Given the description of an element on the screen output the (x, y) to click on. 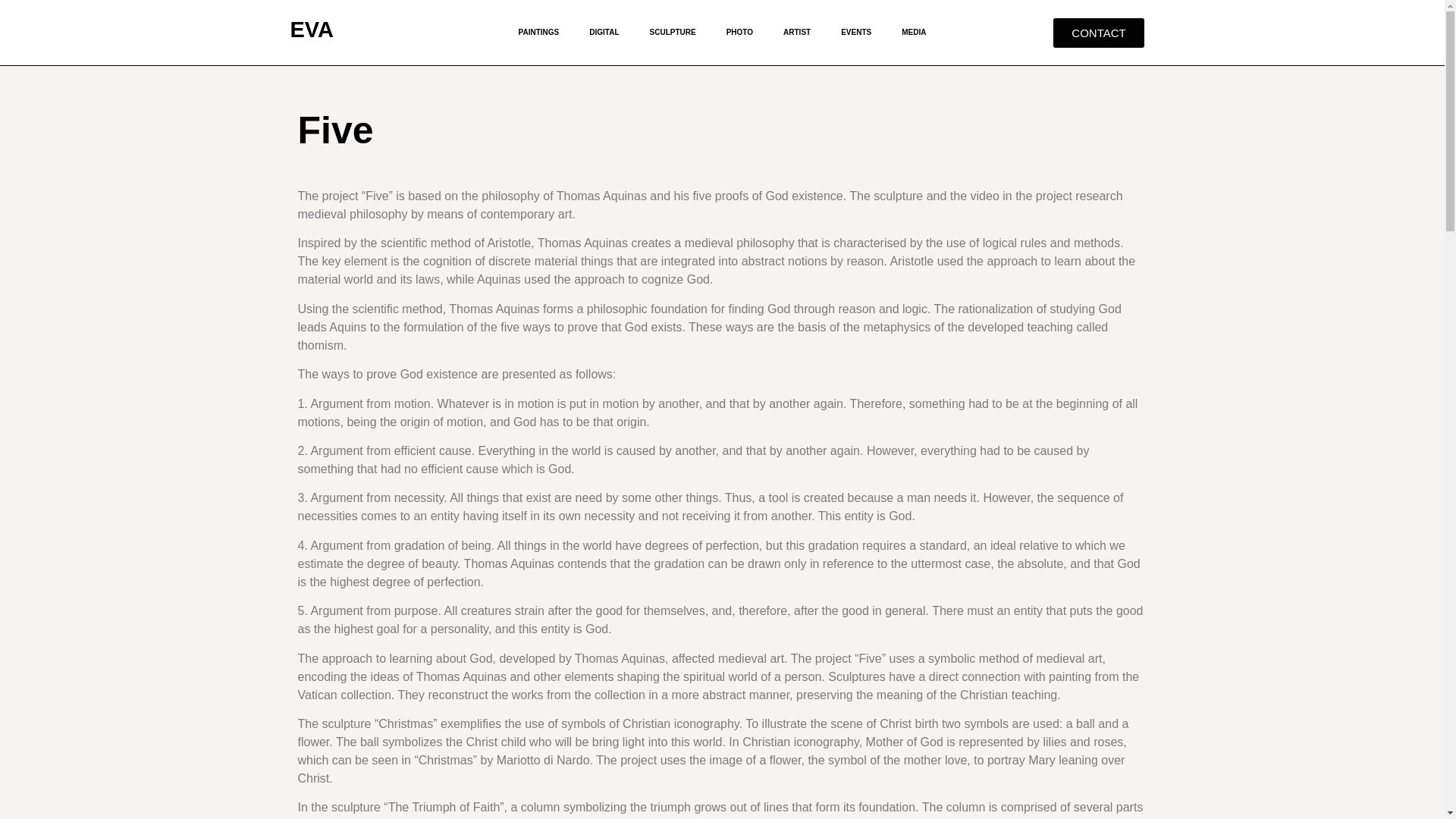
PHOTO (739, 32)
CONTACT (1097, 32)
DIGITAL (603, 32)
SCULPTURE (672, 32)
EVENTS (855, 32)
EVA (311, 29)
ARTIST (796, 32)
PAINTINGS (539, 32)
MEDIA (913, 32)
